Given the description of an element on the screen output the (x, y) to click on. 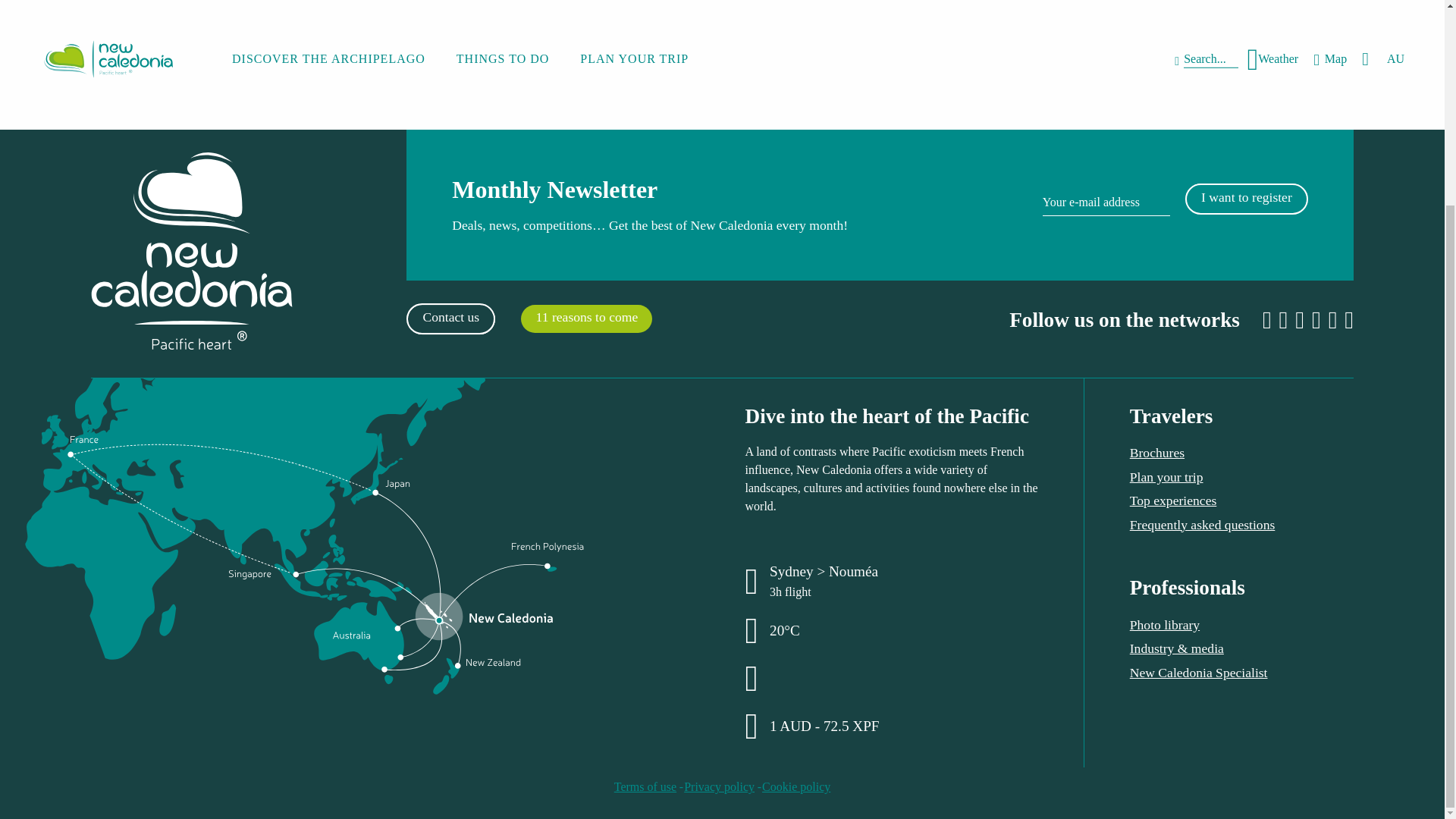
Privacy policy (1129, 205)
Cookie policy (719, 786)
Top experiences (795, 786)
Plan your trip (1173, 500)
Photo library (1166, 476)
Frequently asked questions (1164, 624)
Brochures (1202, 524)
Contact us (1157, 452)
11 reasons to come (450, 318)
New Caledonia Specialist (586, 318)
Terms of use (1198, 672)
